Given the description of an element on the screen output the (x, y) to click on. 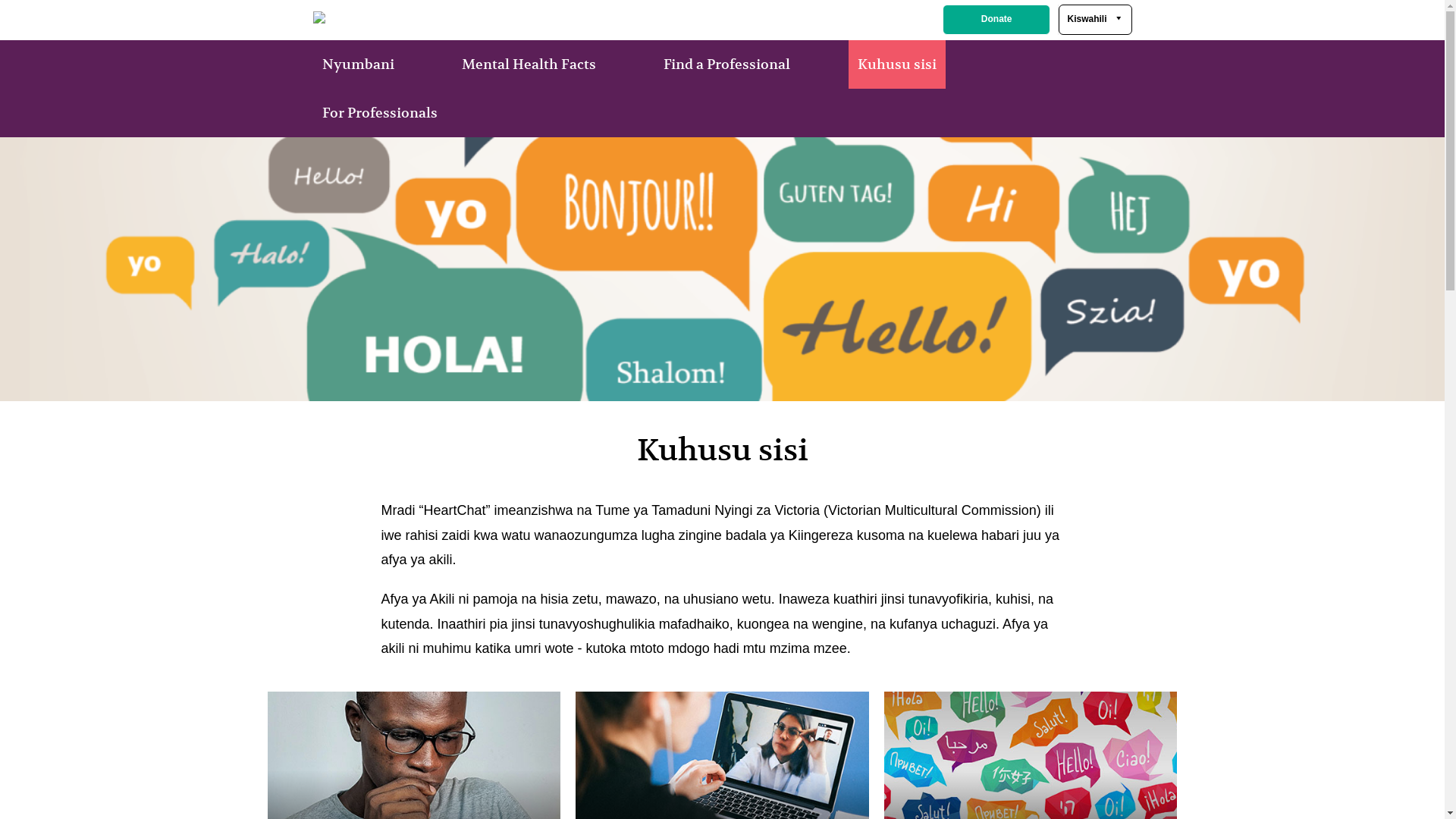
Nyumbani Element type: text (357, 64)
Kiswahili Element type: text (1094, 19)
Donate Element type: text (996, 19)
Find a Professional Element type: text (725, 64)
For Professionals Element type: text (378, 112)
Kuhusu sisi Element type: text (895, 64)
Mental Health Facts Element type: text (527, 64)
